Given the description of an element on the screen output the (x, y) to click on. 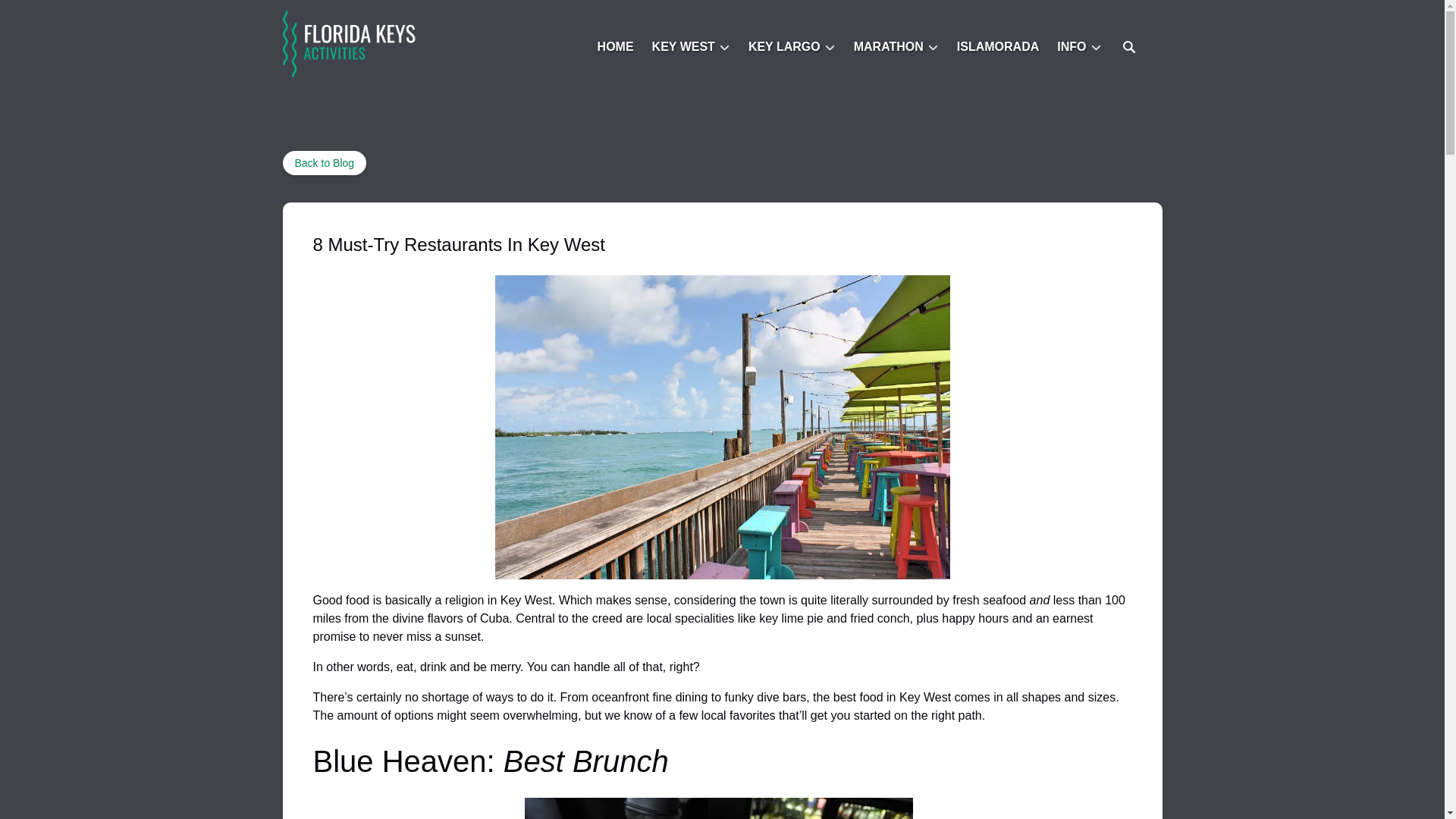
Open Info Menu (1082, 42)
KEY WEST (691, 46)
Open Marathon Menu (899, 42)
HOME (615, 46)
Open Key Largo Menu (795, 42)
MARATHON (895, 46)
KEY LARGO (791, 46)
Skip to primary navigation (77, 16)
Open Key West Menu (694, 42)
Skip to content (47, 16)
